Given the description of an element on the screen output the (x, y) to click on. 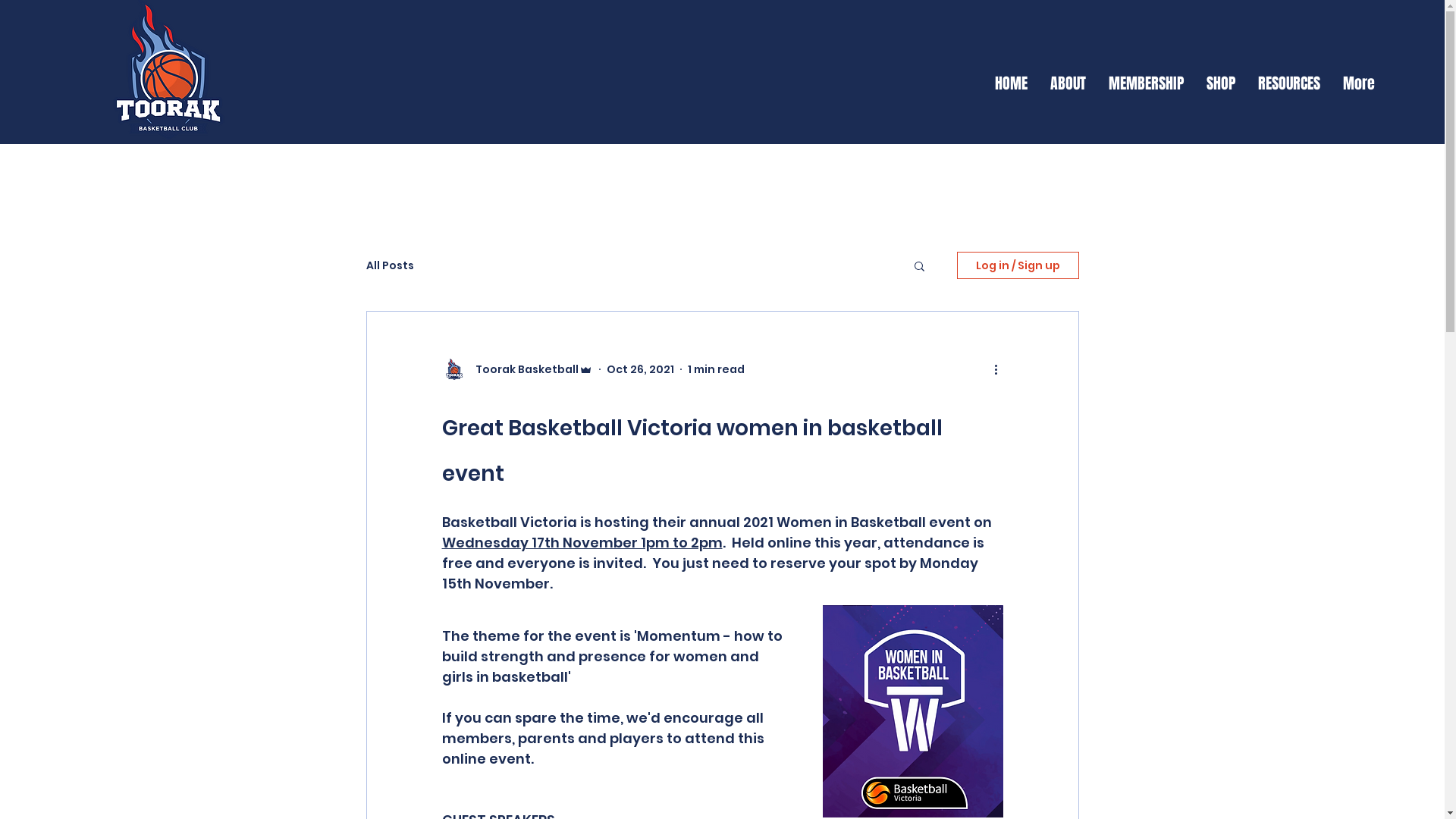
ABOUT Element type: text (1067, 83)
HOME Element type: text (1010, 83)
RESOURCES Element type: text (1288, 83)
MEMBERSHIP Element type: text (1146, 83)
All Posts Element type: text (389, 265)
SHOP Element type: text (1220, 83)
Log in / Sign up Element type: text (1018, 265)
